Given the description of an element on the screen output the (x, y) to click on. 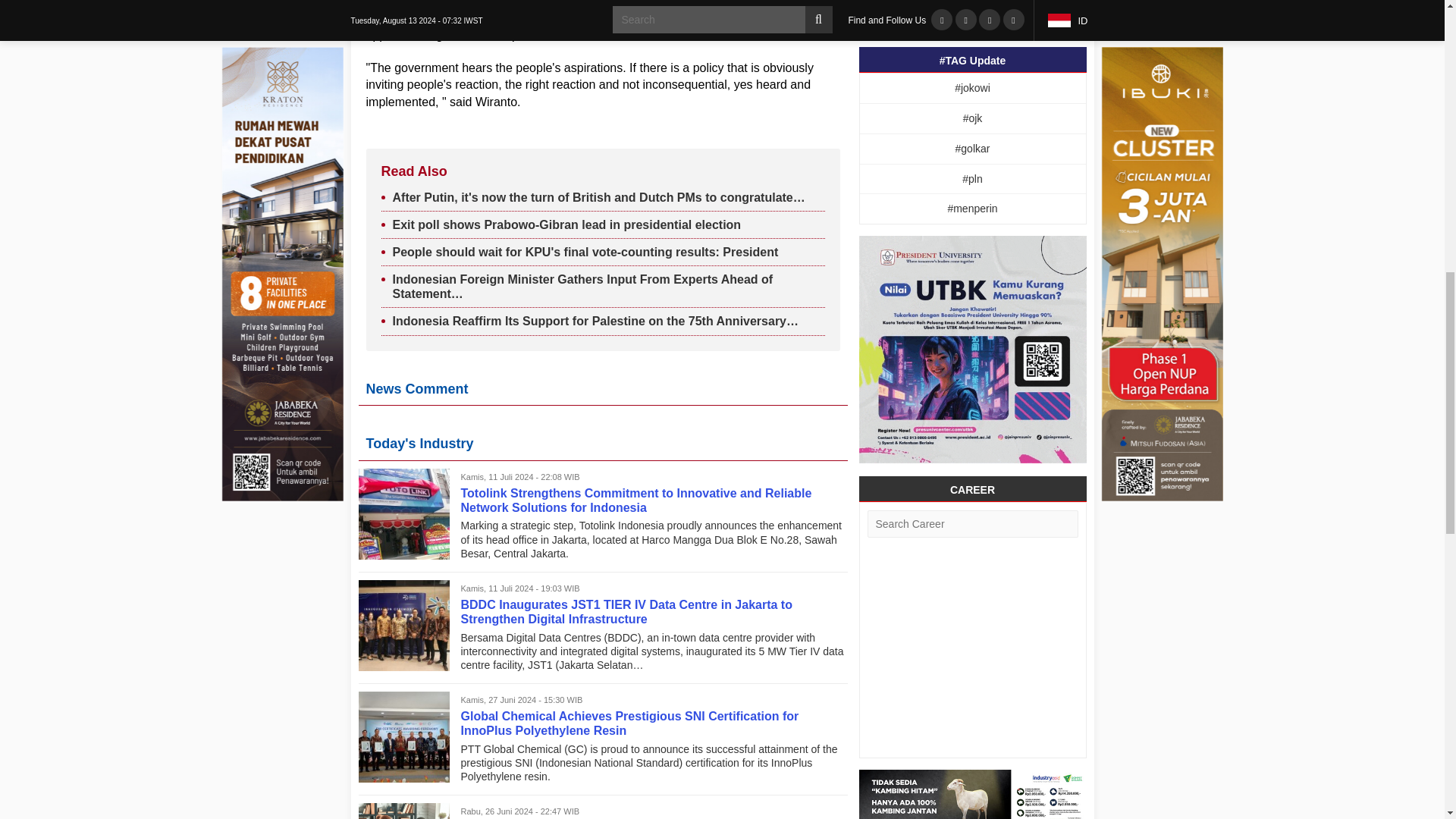
Pemerintah mendengar aspirasi rakyat. (496, 67)
Exit poll shows Prabowo-Gibran lead in presidential election (567, 224)
